Given the description of an element on the screen output the (x, y) to click on. 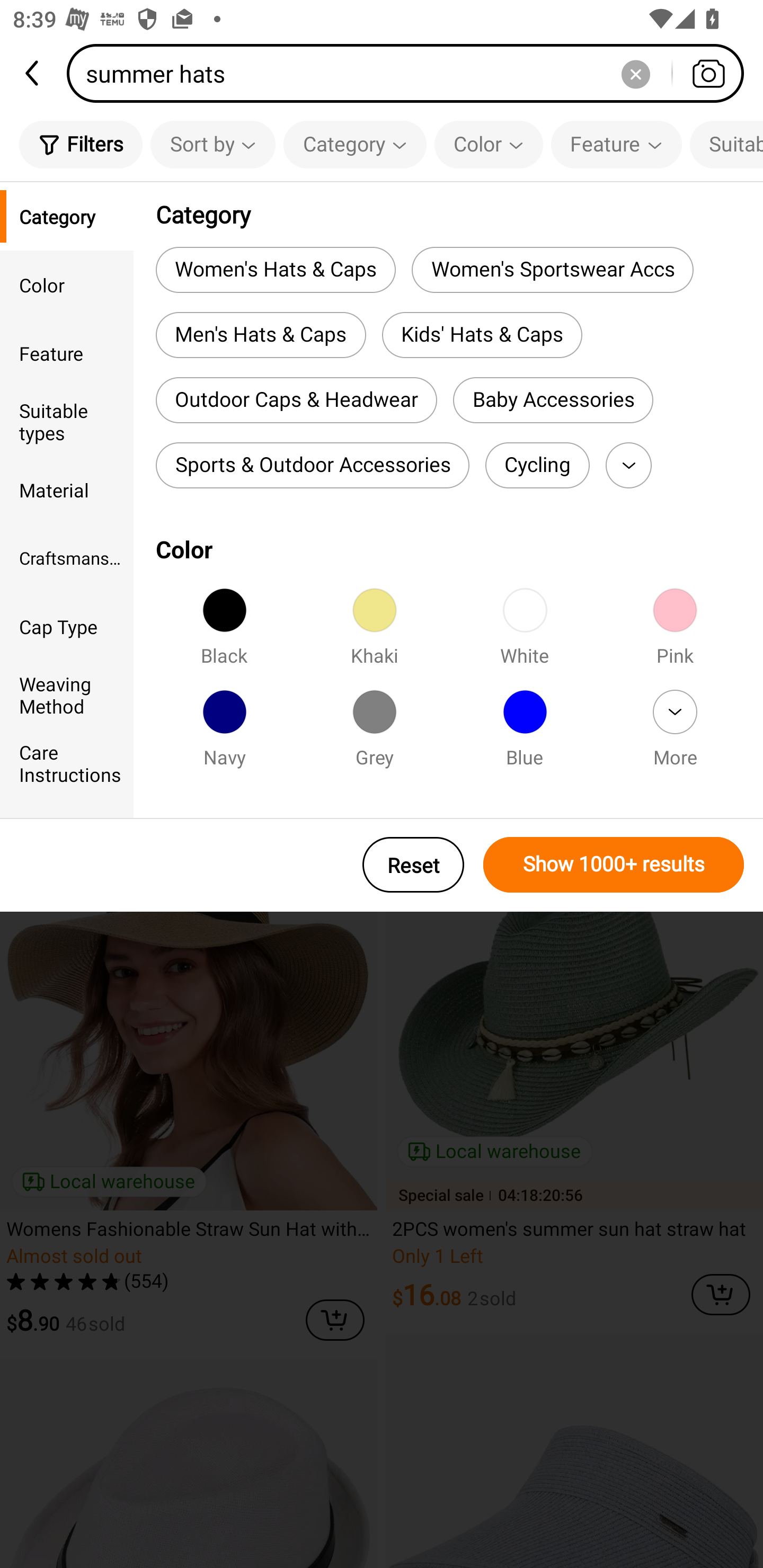
back (33, 72)
summer hats (411, 73)
Delete search history (635, 73)
Search by photo (708, 73)
Filters (80, 143)
Sort by (212, 143)
Category (354, 143)
Color (488, 143)
Feature (616, 143)
Suitable types (726, 143)
Category (66, 215)
Women's Hats & Caps (275, 269)
Women's Sportswear Accs (552, 269)
Color (66, 284)
Men's Hats & Caps (260, 334)
Kids' Hats & Caps (482, 334)
Feature (66, 352)
Outdoor Caps & Headwear (296, 400)
Baby Accessories (553, 400)
Suitable types (66, 421)
Sports & Outdoor Accessories (312, 464)
Cycling (537, 464)
More (628, 464)
Material (66, 489)
Craftsmanship (66, 557)
Cap Type (66, 626)
Weaving Method (66, 694)
More (674, 734)
Care Instructions (66, 762)
Reset (412, 864)
Show 1000+ results (612, 864)
